Given the description of an element on the screen output the (x, y) to click on. 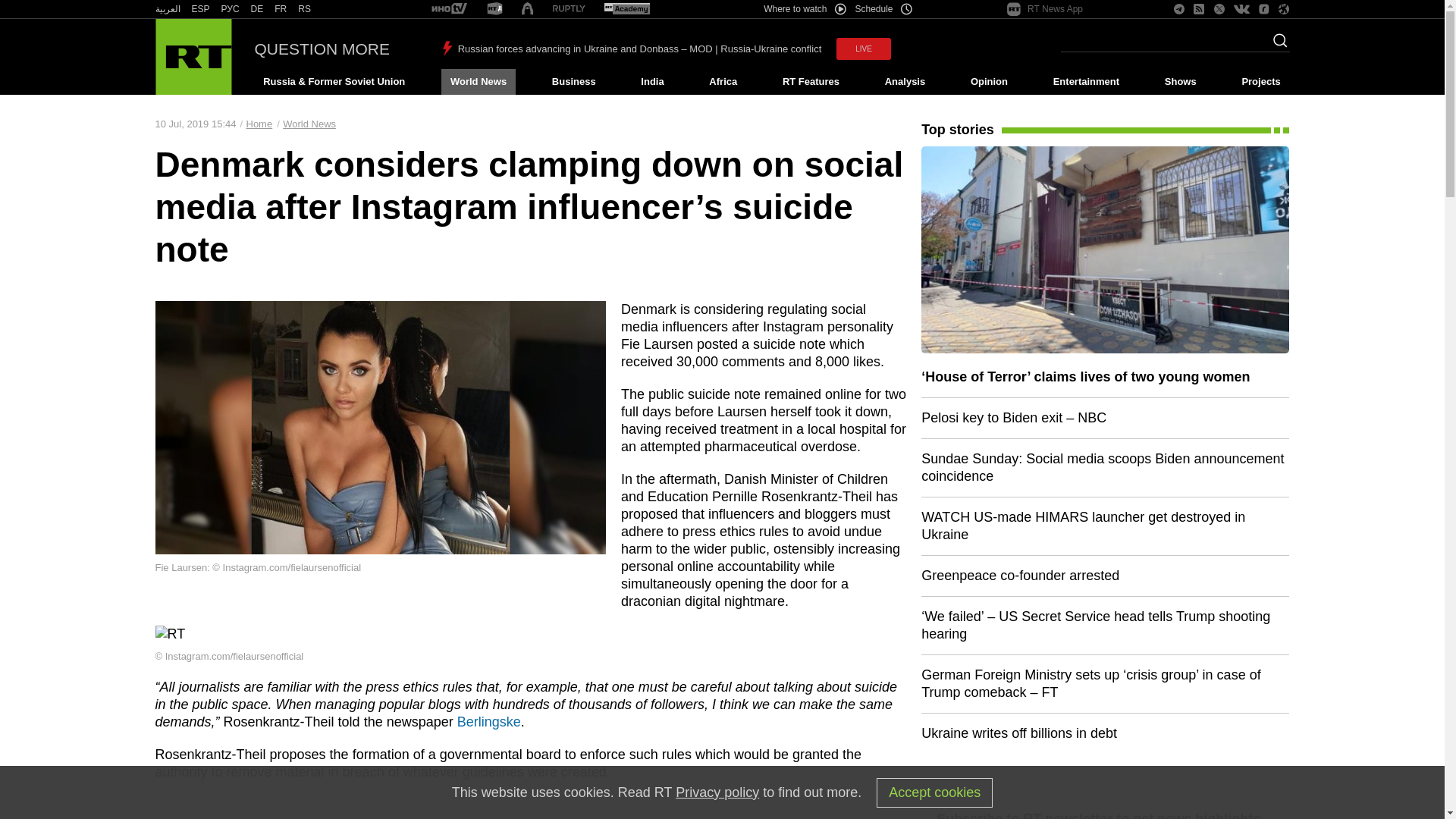
World News (478, 81)
Entertainment (1085, 81)
Schedule (884, 9)
RT  (304, 9)
Search (1276, 44)
RT News App (1045, 9)
RT  (199, 9)
Shows (1180, 81)
ESP (199, 9)
Africa (722, 81)
Business (573, 81)
RT  (256, 9)
RT Features (810, 81)
RT  (166, 9)
India (651, 81)
